Given the description of an element on the screen output the (x, y) to click on. 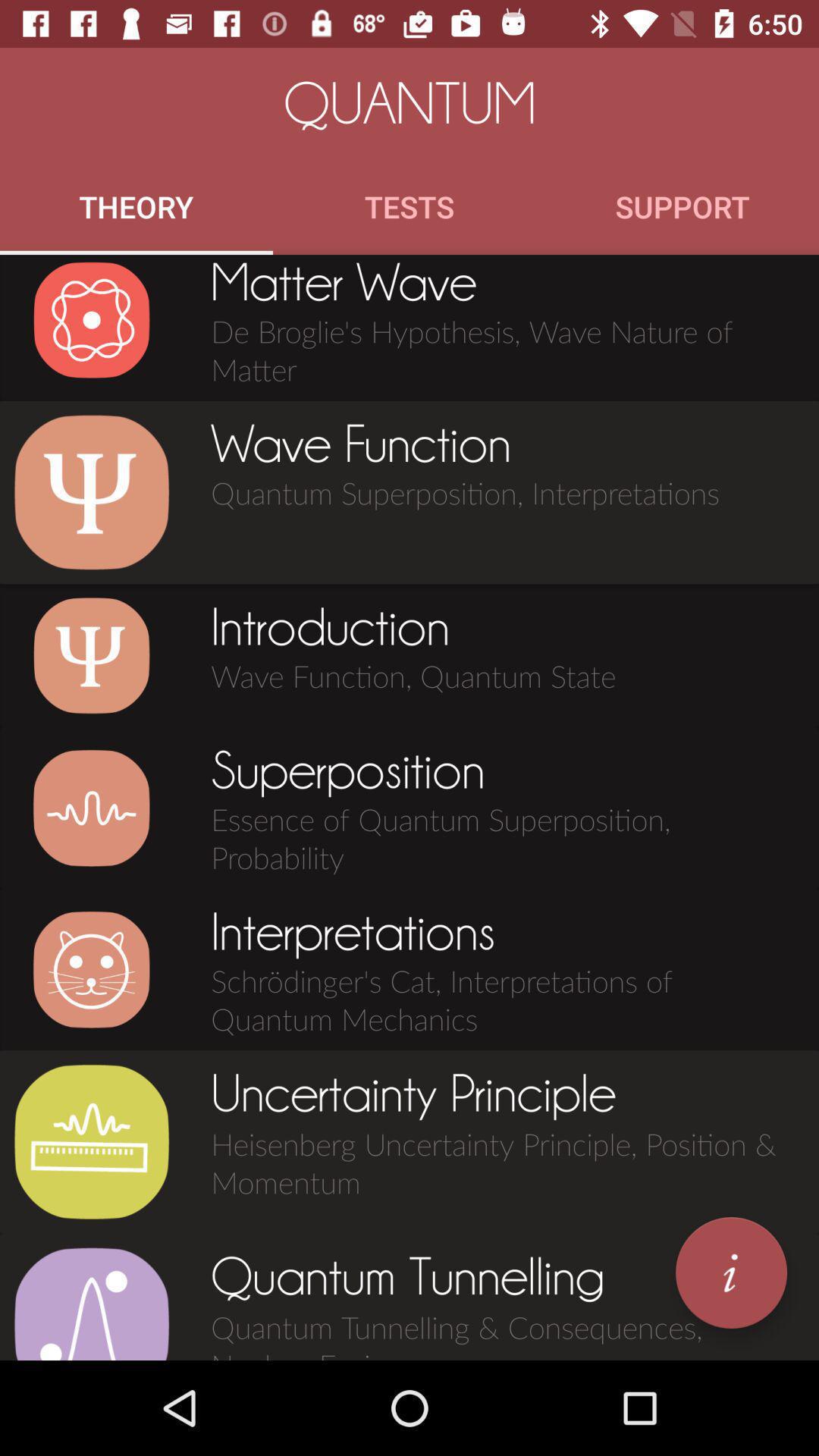
information (731, 1272)
